Given the description of an element on the screen output the (x, y) to click on. 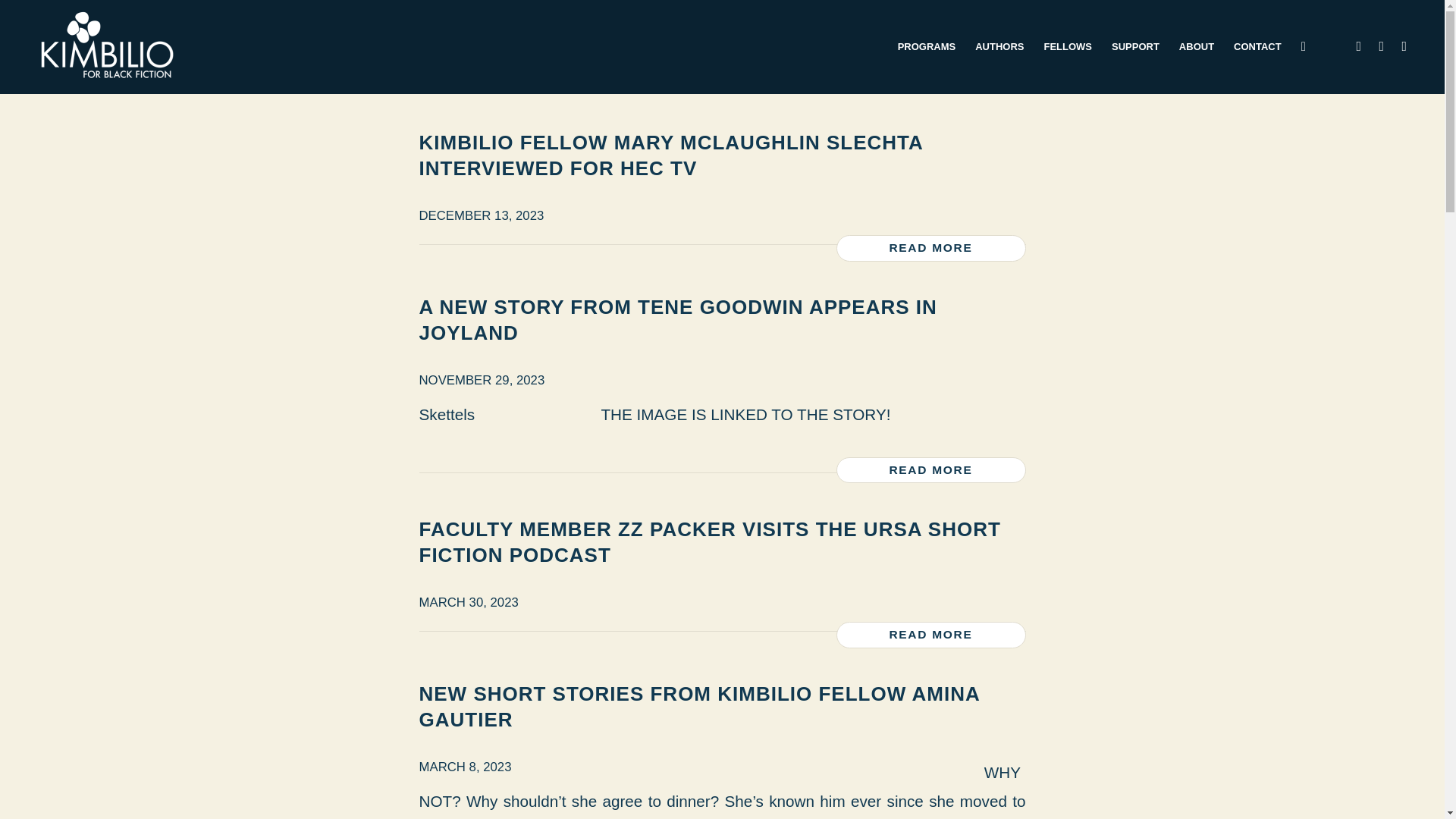
READ MORE (930, 634)
A NEW STORY FROM TENE GOODWIN APPEARS IN JOYLAND (677, 319)
Instagram (1404, 46)
READ MORE (930, 248)
NEW SHORT STORIES FROM KIMBILIO FELLOW AMINA GAUTIER (698, 706)
Twitter (1381, 46)
Facebook (1359, 46)
